Given the description of an element on the screen output the (x, y) to click on. 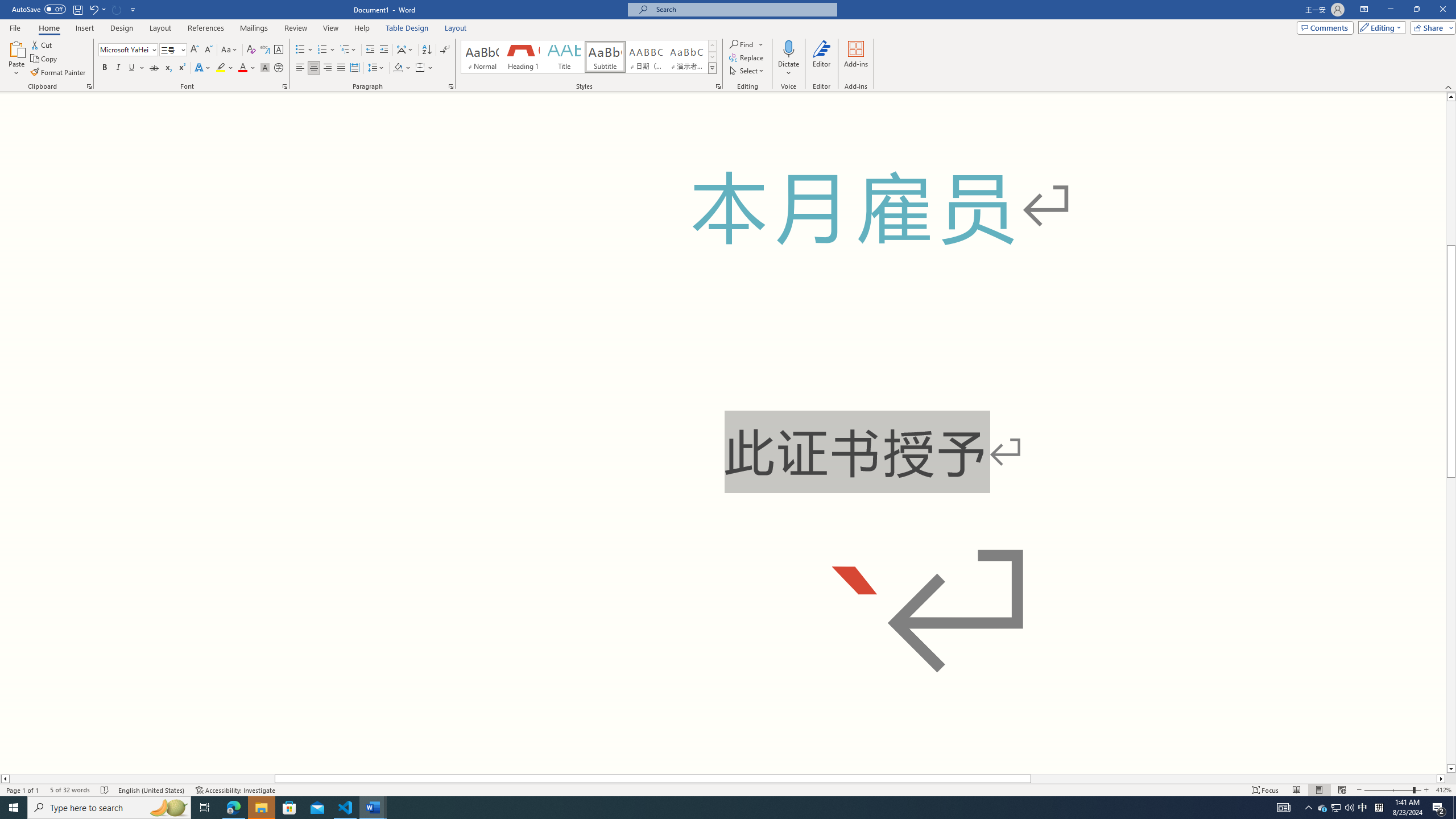
Numbering (322, 49)
Editor (821, 58)
Undo Apply Quick Style (92, 9)
Font (124, 49)
Undo Apply Quick Style (96, 9)
Help (361, 28)
Design (122, 28)
Format Painter (58, 72)
Find (746, 44)
Spelling and Grammar Check No Errors (105, 790)
Shrink Font (208, 49)
